Given the description of an element on the screen output the (x, y) to click on. 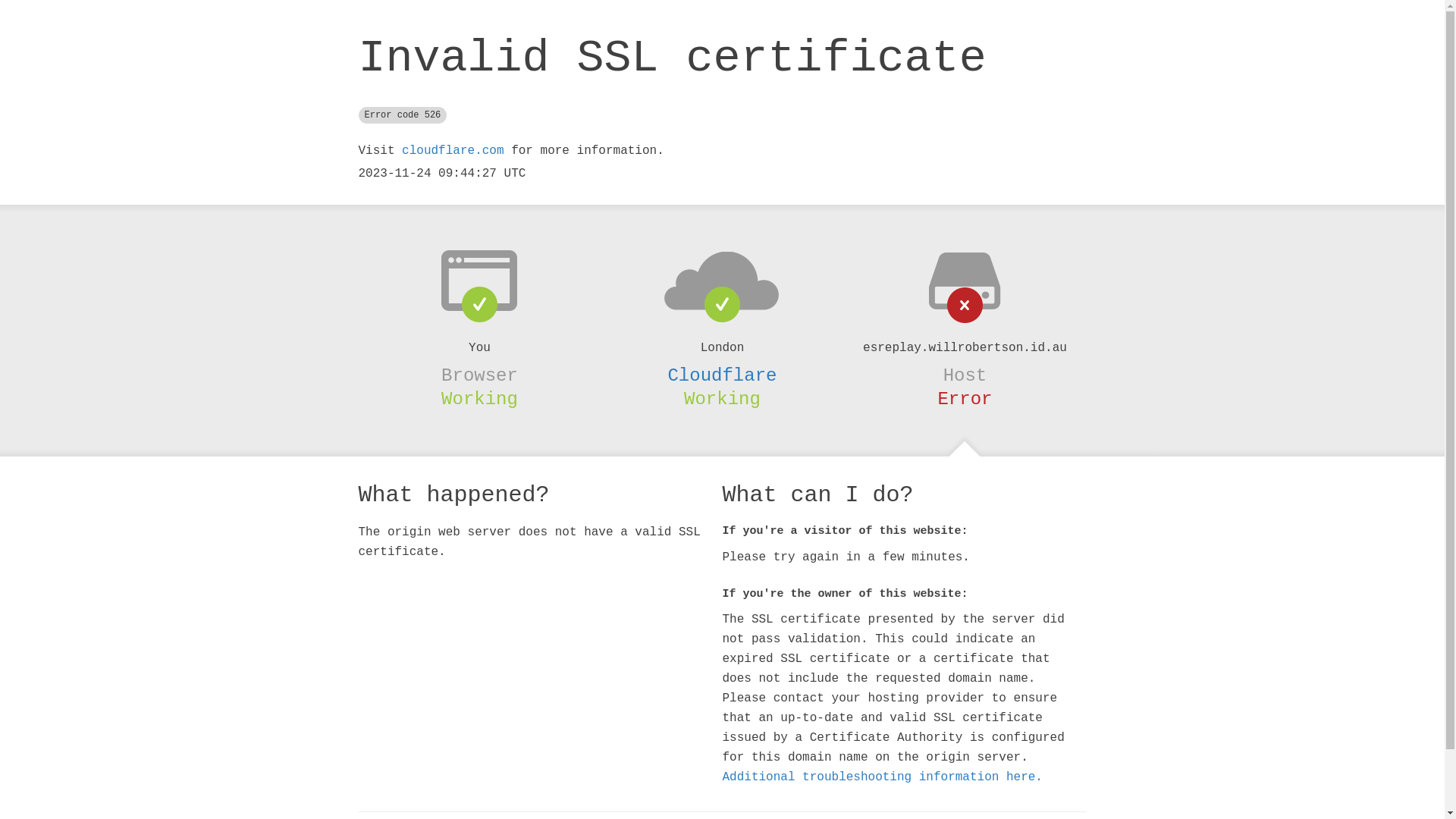
Additional troubleshooting information here. Element type: text (881, 777)
cloudflare.com Element type: text (452, 150)
Cloudflare Element type: text (721, 375)
